Given the description of an element on the screen output the (x, y) to click on. 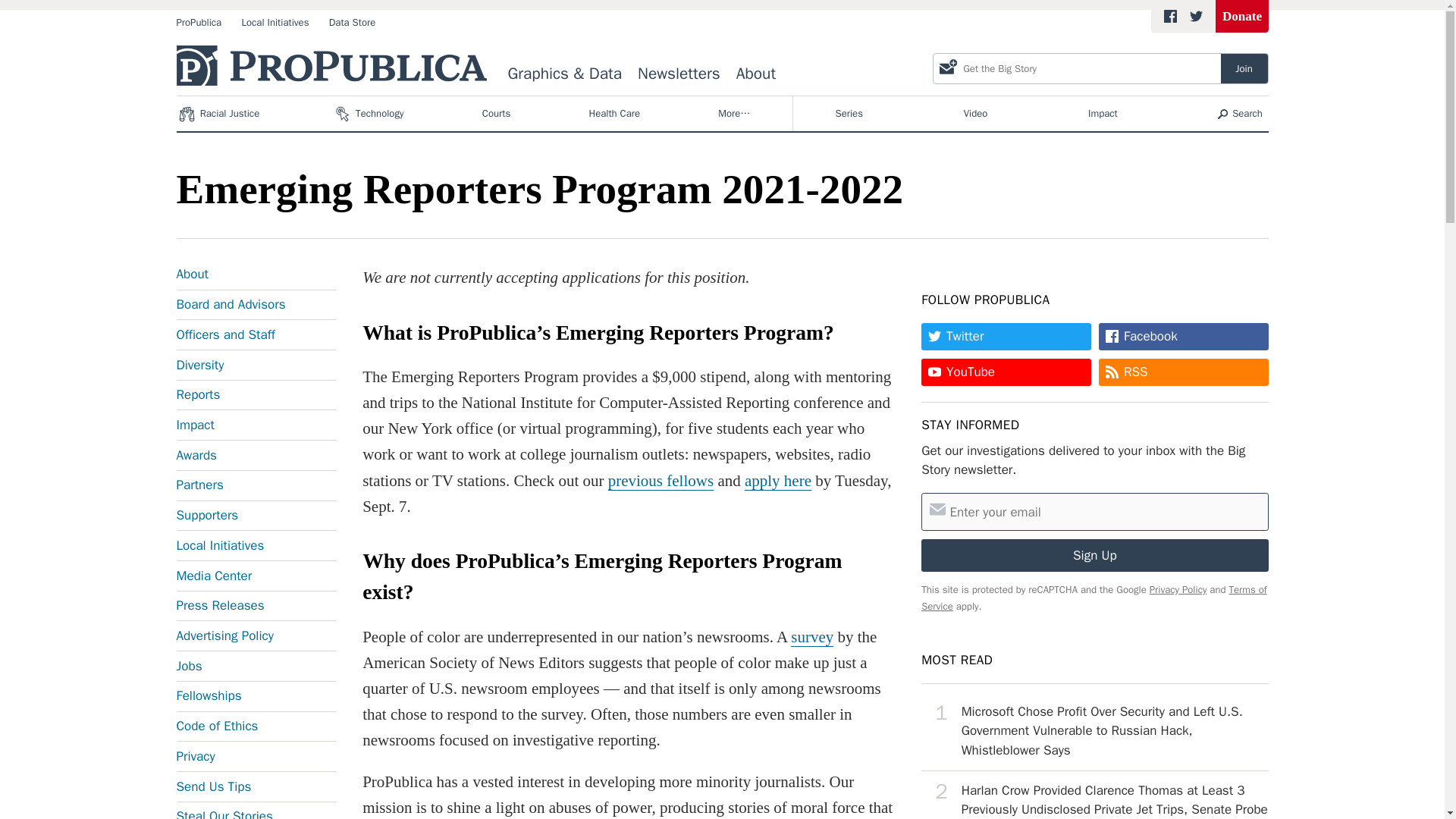
Code of Ethics (256, 726)
About (256, 276)
Racial Justice (220, 113)
Advertising Policy (256, 635)
Impact (256, 425)
Health Care (614, 113)
Join (1244, 68)
Rich Site Summary (1136, 371)
Skip to main content (8, 7)
Press Releases (256, 606)
Local Initiatives (256, 545)
Officers and Staff (256, 335)
Jobs (256, 666)
Media Center (256, 576)
Impact (1101, 113)
